Given the description of an element on the screen output the (x, y) to click on. 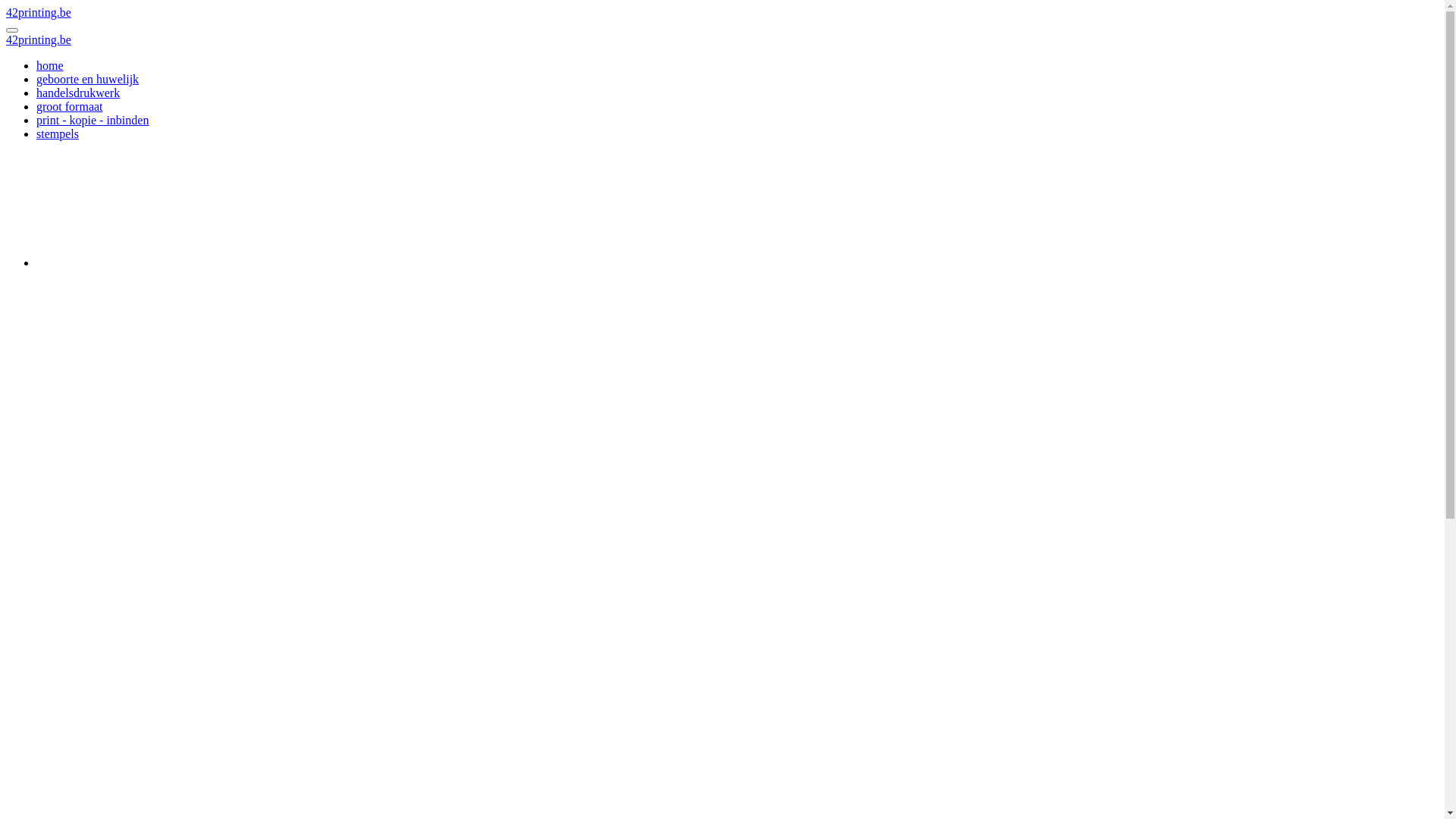
stempels Element type: text (57, 133)
print - kopie - inbinden Element type: text (92, 119)
geboorte en huwelijk Element type: text (87, 78)
handelsdrukwerk Element type: text (77, 92)
42printing.be Element type: text (38, 12)
groot formaat Element type: text (69, 106)
42printing.be Element type: text (38, 39)
home Element type: text (49, 65)
